Given the description of an element on the screen output the (x, y) to click on. 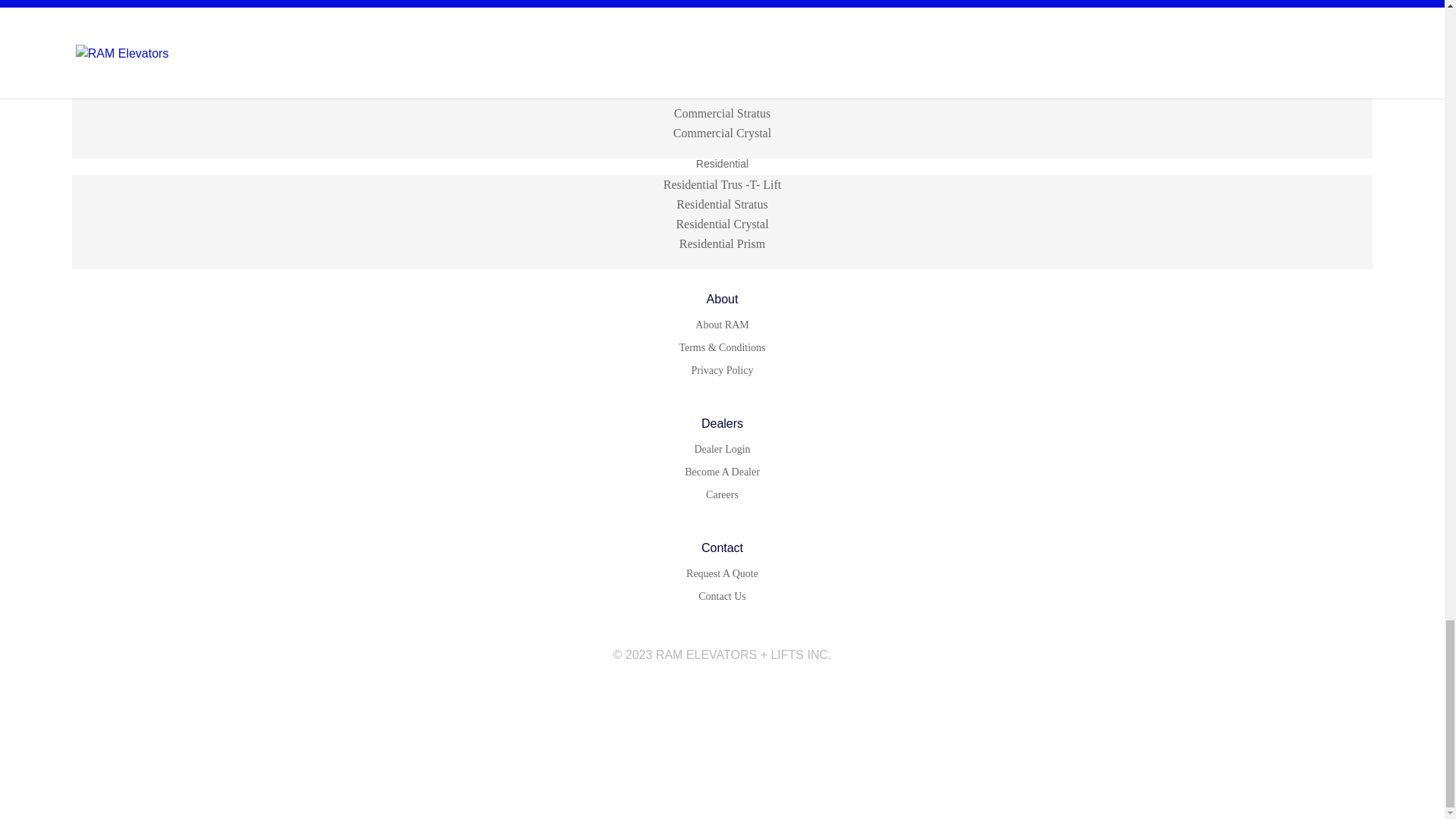
Follow on Facebook (691, 692)
Follow on LinkedIn (751, 692)
Commercial (722, 75)
Follow on Instagram (721, 692)
